Given the description of an element on the screen output the (x, y) to click on. 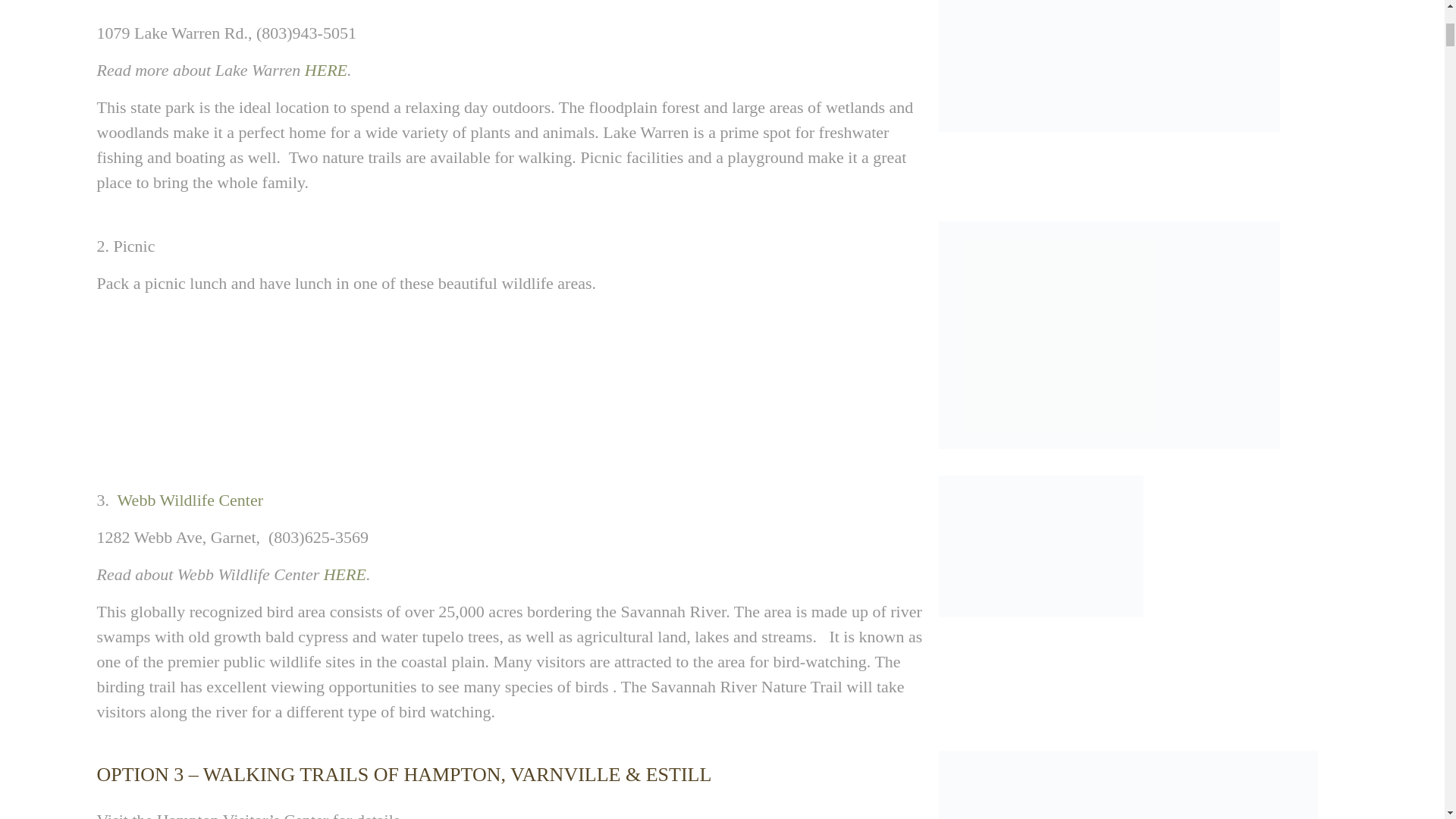
Webb WMA (1040, 546)
Hampton-County-courthouse (1128, 785)
picnic (1109, 334)
Lake-Warren-State-Park (1109, 65)
